Given the description of an element on the screen output the (x, y) to click on. 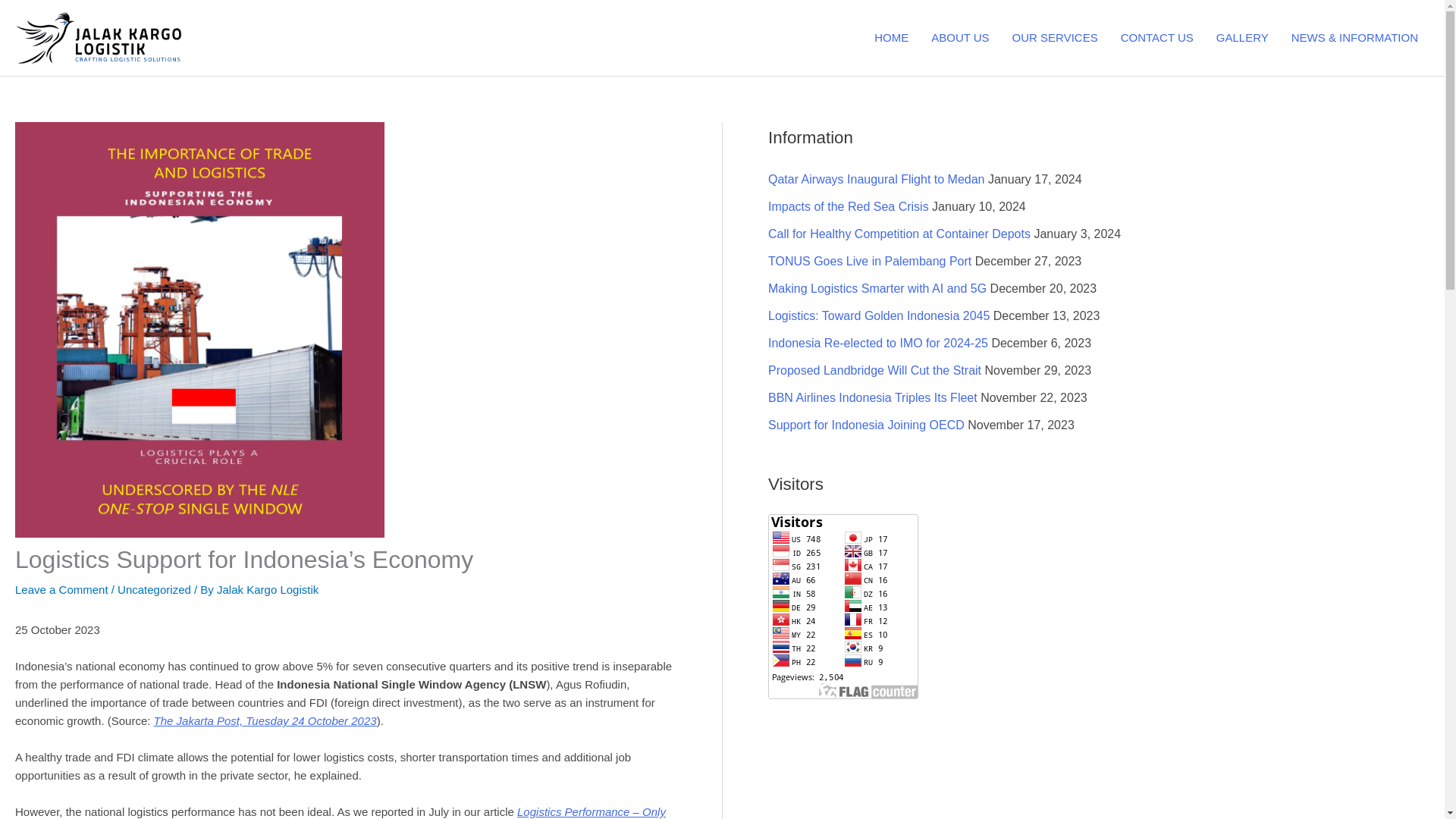
CONTACT US (1157, 37)
GALLERY (1242, 37)
Leave a Comment (60, 589)
Jalak Kargo Logistik (267, 589)
View all posts by Jalak Kargo Logistik (267, 589)
Uncategorized (153, 589)
HOME (891, 37)
ABOUT US (960, 37)
The Jakarta Post, Tuesday 24 October 2023 (265, 720)
OUR SERVICES (1055, 37)
